Given the description of an element on the screen output the (x, y) to click on. 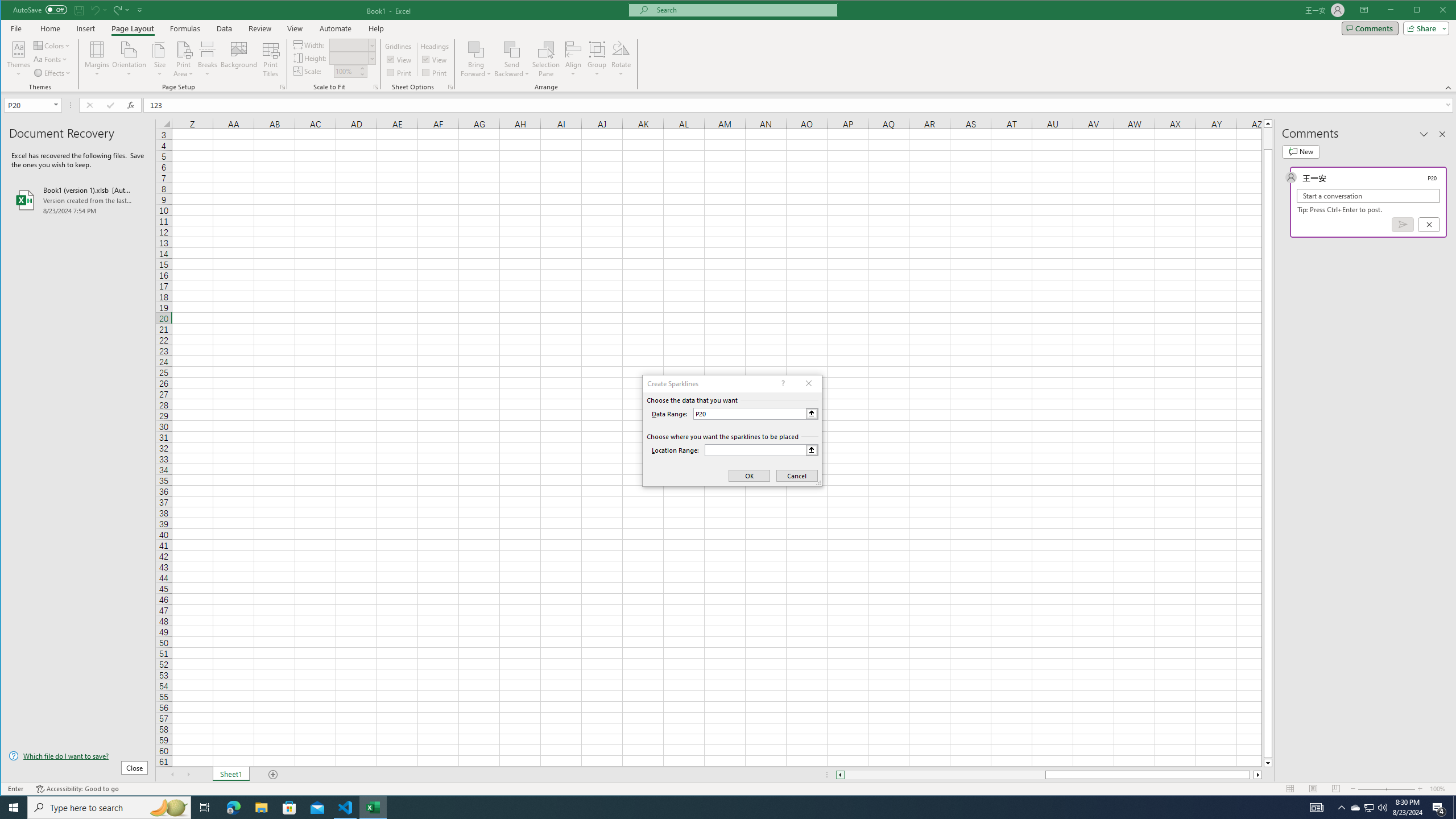
Group (596, 59)
Maximize (1432, 11)
Open (56, 105)
Zoom In (1420, 788)
Normal (1290, 788)
Sheet Options (449, 86)
Task Pane Options (1423, 133)
Send Backward (512, 48)
Sheet1 (230, 774)
Which file do I want to save? (78, 755)
AutoSave (39, 9)
Review (259, 28)
Breaks (207, 59)
Align (573, 59)
Book1 (version 1).xlsb  [AutoRecovered] (78, 199)
